Given the description of an element on the screen output the (x, y) to click on. 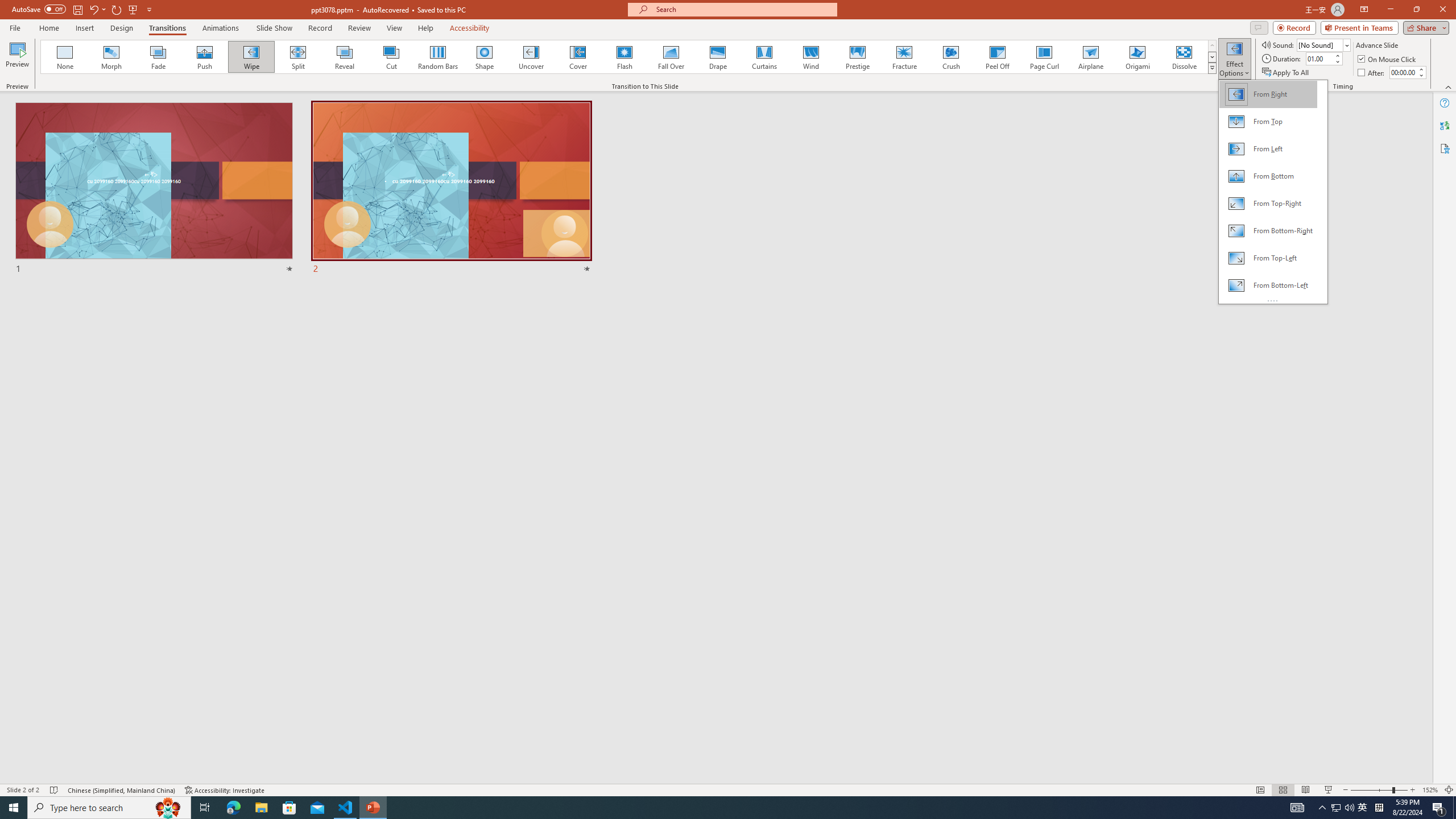
Prestige (857, 56)
Airplane (1090, 56)
Reveal (344, 56)
Peel Off (997, 56)
